Given the description of an element on the screen output the (x, y) to click on. 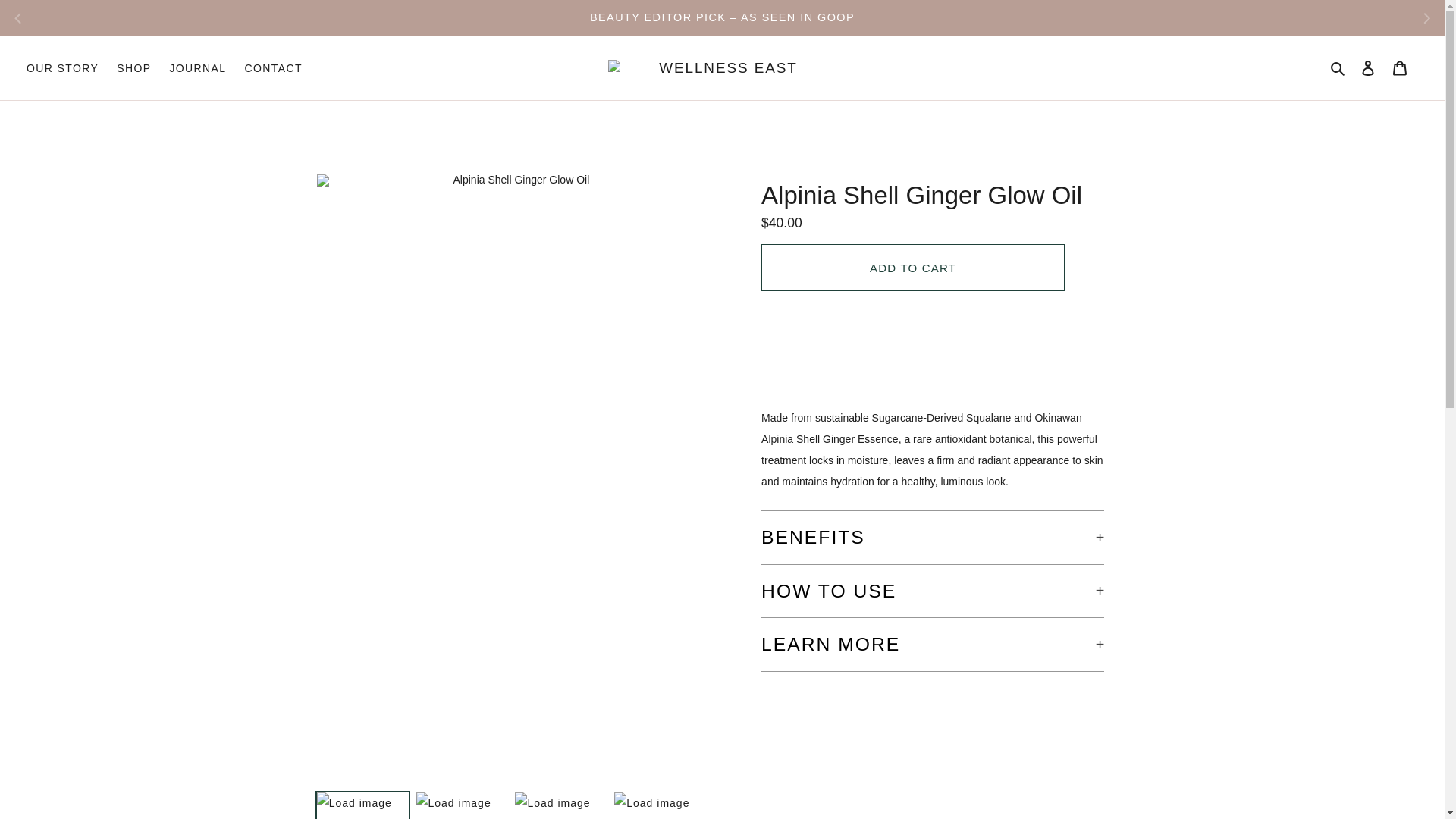
SHOP (133, 68)
CONTACT (271, 68)
JOURNAL (196, 68)
Search (1338, 67)
Log in (1368, 68)
OUR STORY (62, 68)
Cart (1399, 68)
